Given the description of an element on the screen output the (x, y) to click on. 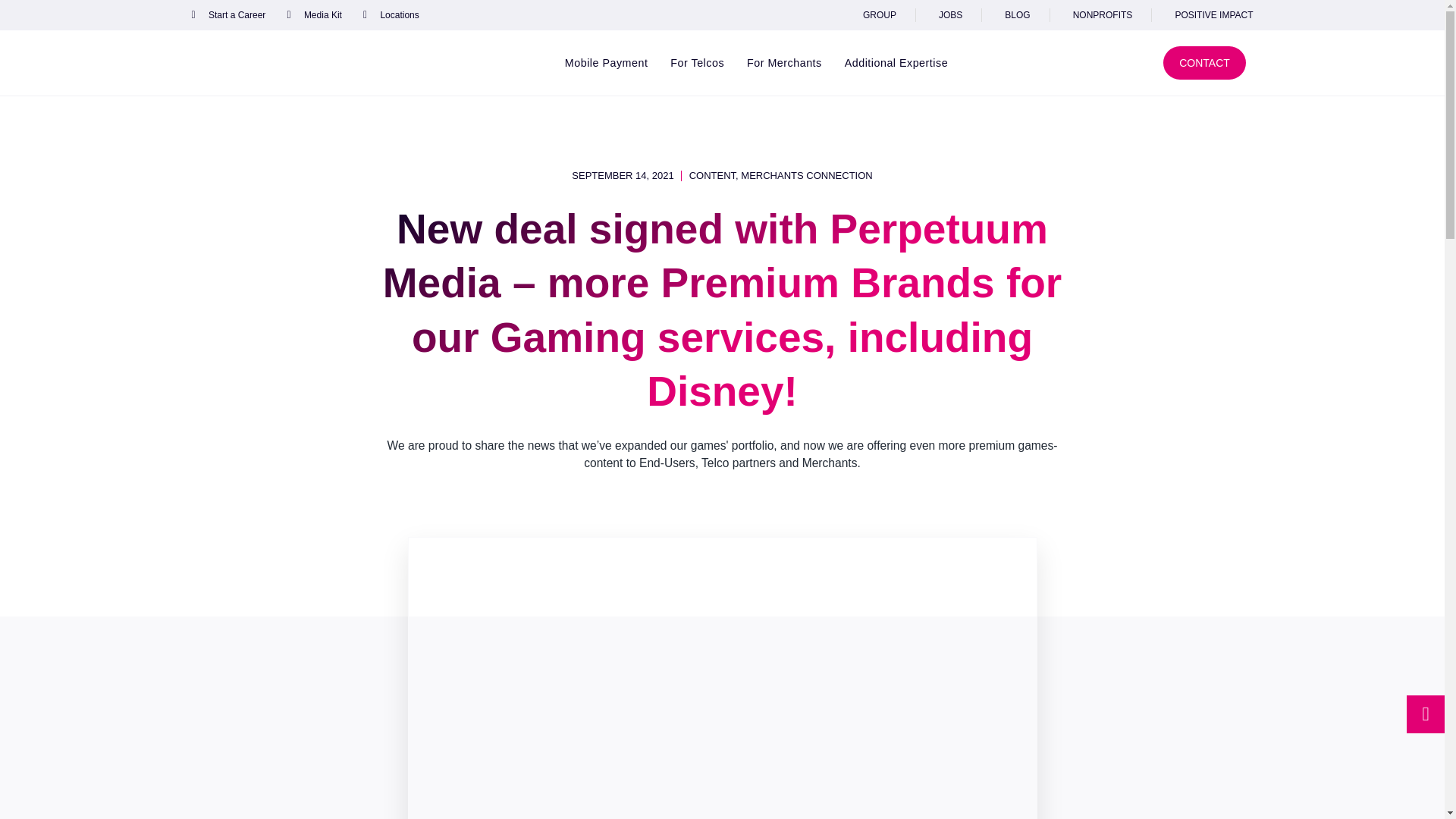
Media Kit (314, 15)
Start a Career (227, 15)
GROUP (877, 15)
NONPROFITS (1100, 15)
POSITIVE IMPACT (1211, 15)
BLOG (1015, 15)
Locations (390, 15)
JOBS (948, 15)
